Given the description of an element on the screen output the (x, y) to click on. 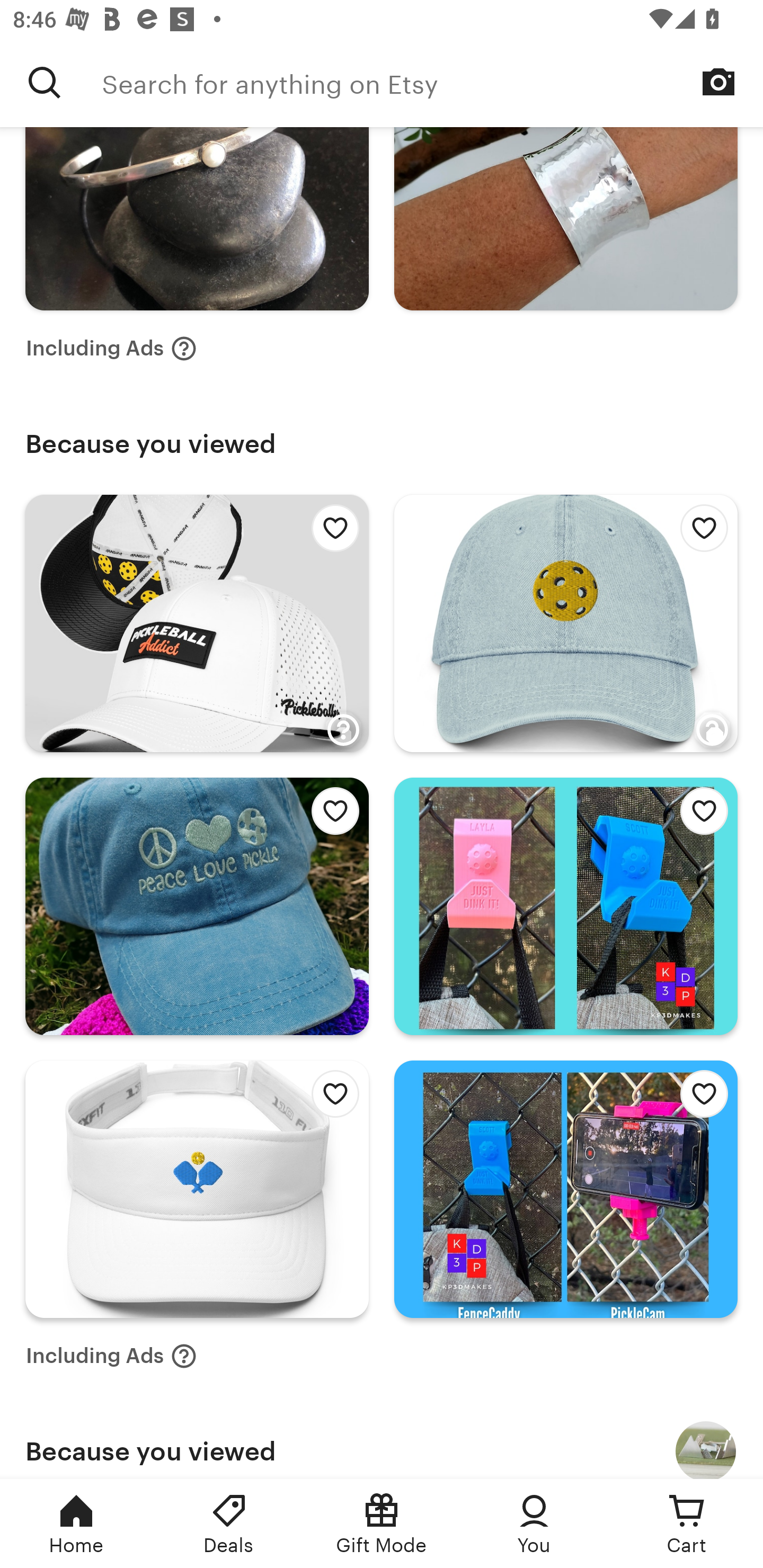
Search for anything on Etsy (44, 82)
Search by image (718, 81)
Search for anything on Etsy (432, 82)
Including Ads (111, 348)
Add Pickleball Addict Performance Hat to favorites (330, 532)
Including Ads (111, 1355)
Deals (228, 1523)
Gift Mode (381, 1523)
You (533, 1523)
Cart (686, 1523)
